Given the description of an element on the screen output the (x, y) to click on. 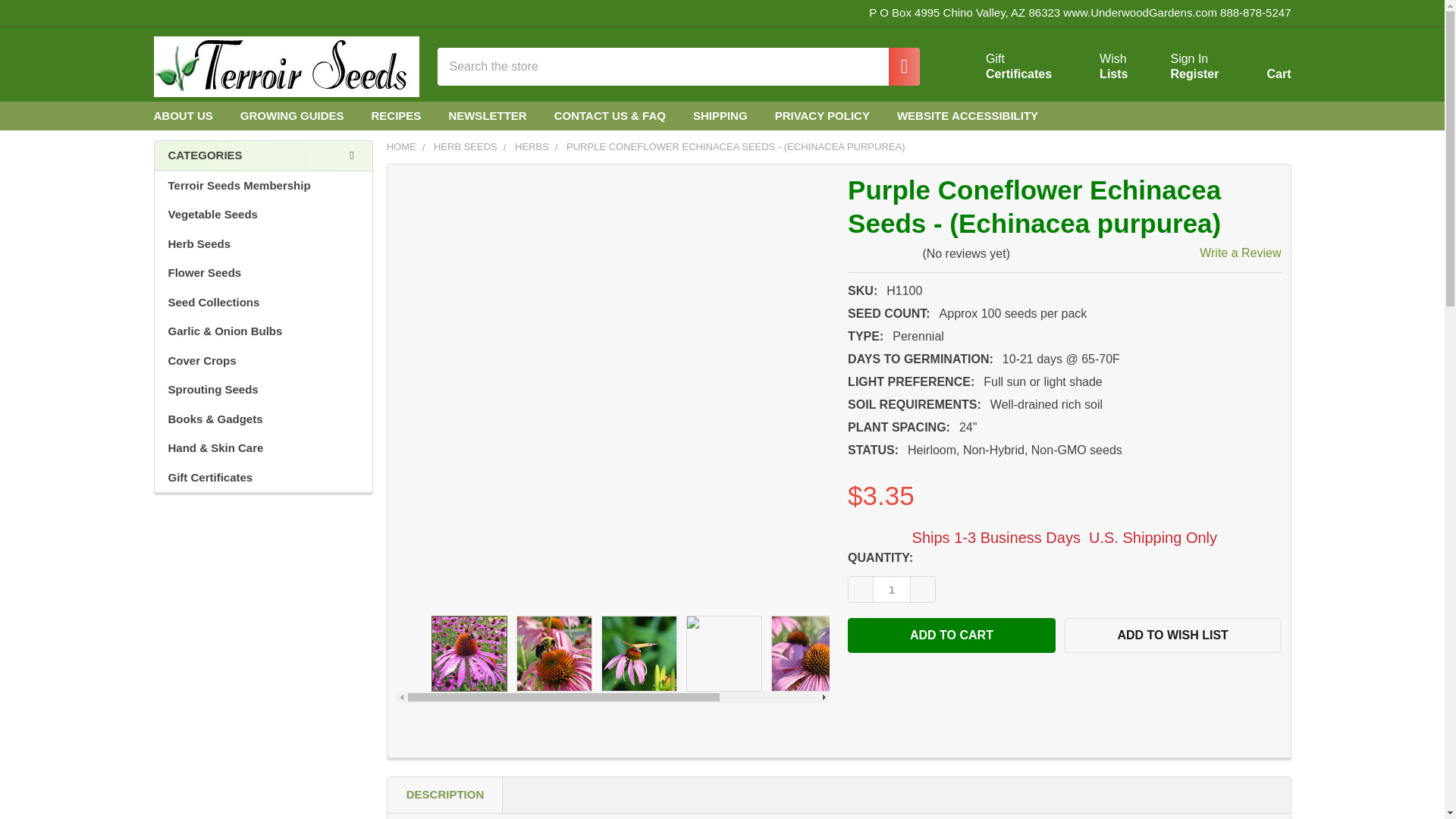
Gift Certificates (1000, 66)
Cart (1260, 69)
Search (896, 66)
Wish Lists (1095, 66)
Sign In (1189, 58)
Register (1194, 73)
1 (891, 589)
Search (1095, 66)
Facebook (896, 66)
Pinterest (1245, 114)
Add to Cart (1000, 66)
Cart (1276, 114)
